Given the description of an element on the screen output the (x, y) to click on. 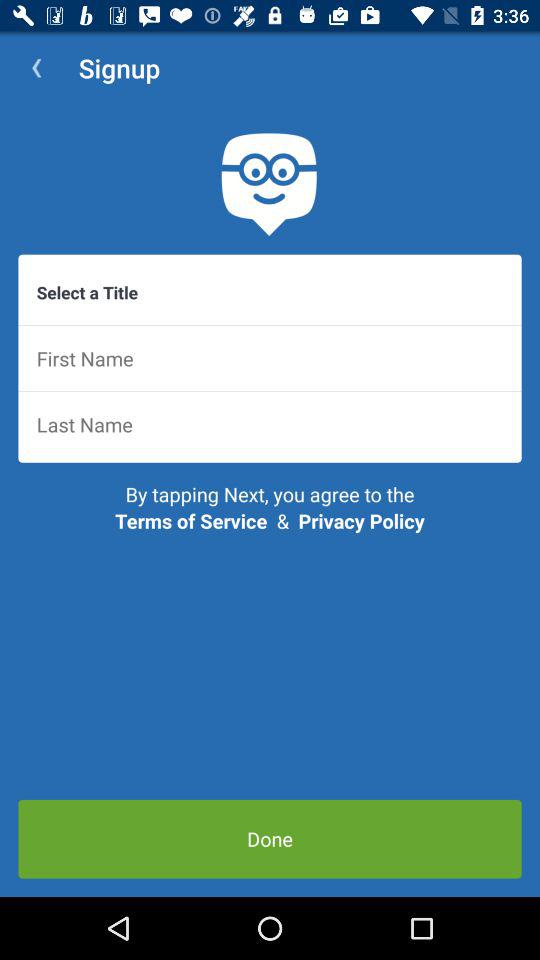
space for first name (269, 358)
